Given the description of an element on the screen output the (x, y) to click on. 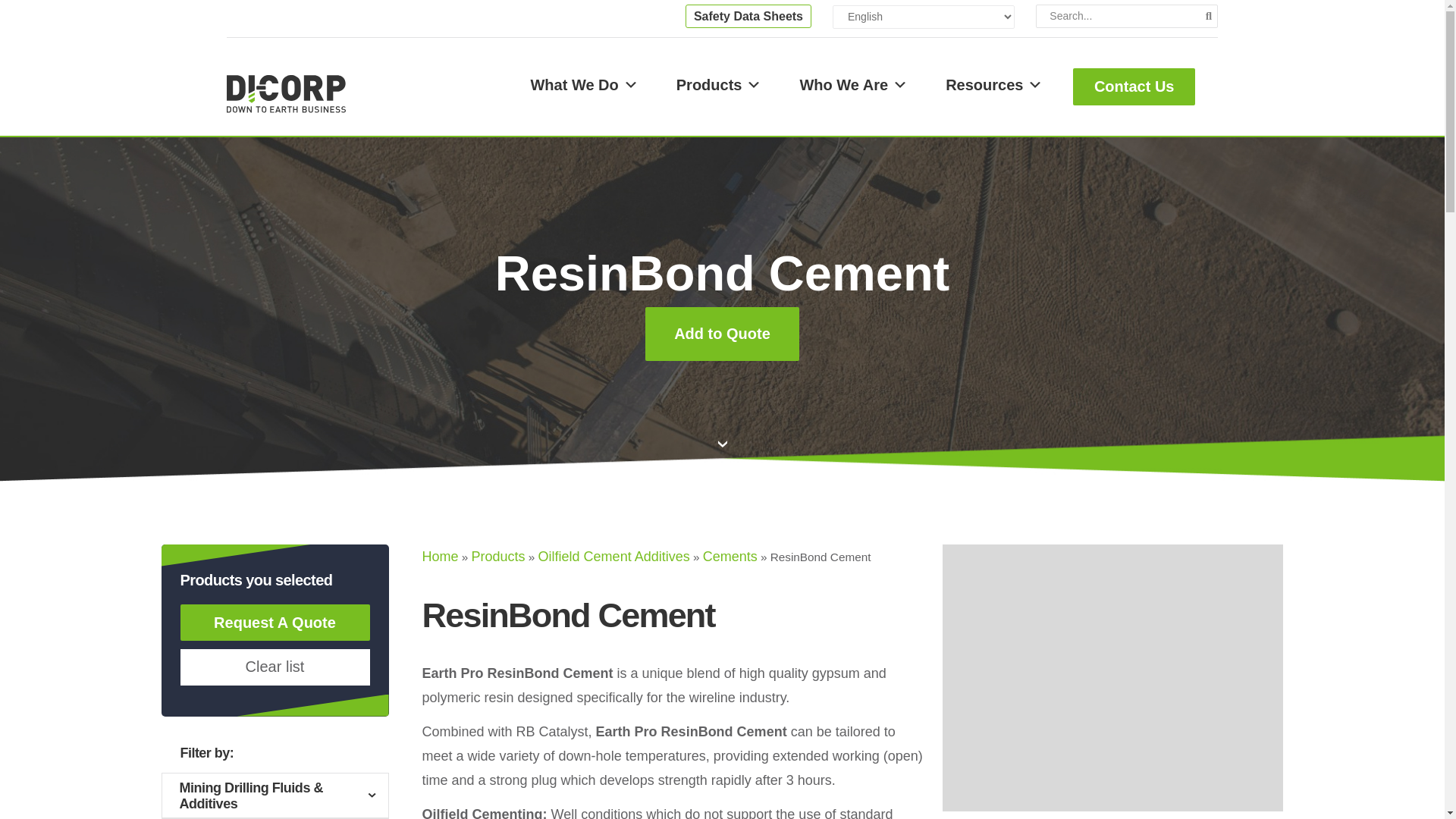
Products (719, 84)
Contact Us (1134, 86)
Who We Are (853, 84)
Safety Data Sheets (747, 15)
Add to Quote (722, 334)
Clear list (274, 667)
Request A Quote (274, 621)
Resources (993, 84)
What We Do (583, 84)
